Given the description of an element on the screen output the (x, y) to click on. 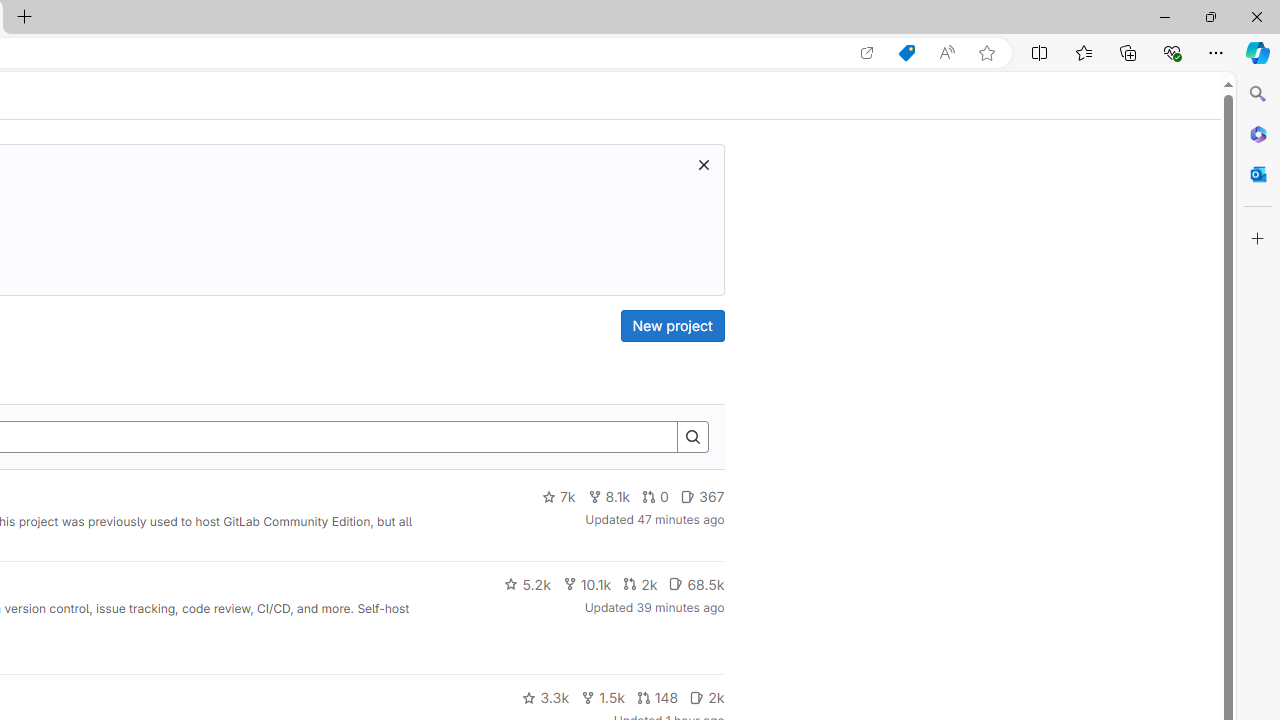
Class: s14 gl-mr-2 (697, 696)
68.5k (696, 583)
3.3k (545, 697)
2k (706, 697)
0 (655, 497)
New project (671, 326)
7k (558, 497)
